Given the description of an element on the screen output the (x, y) to click on. 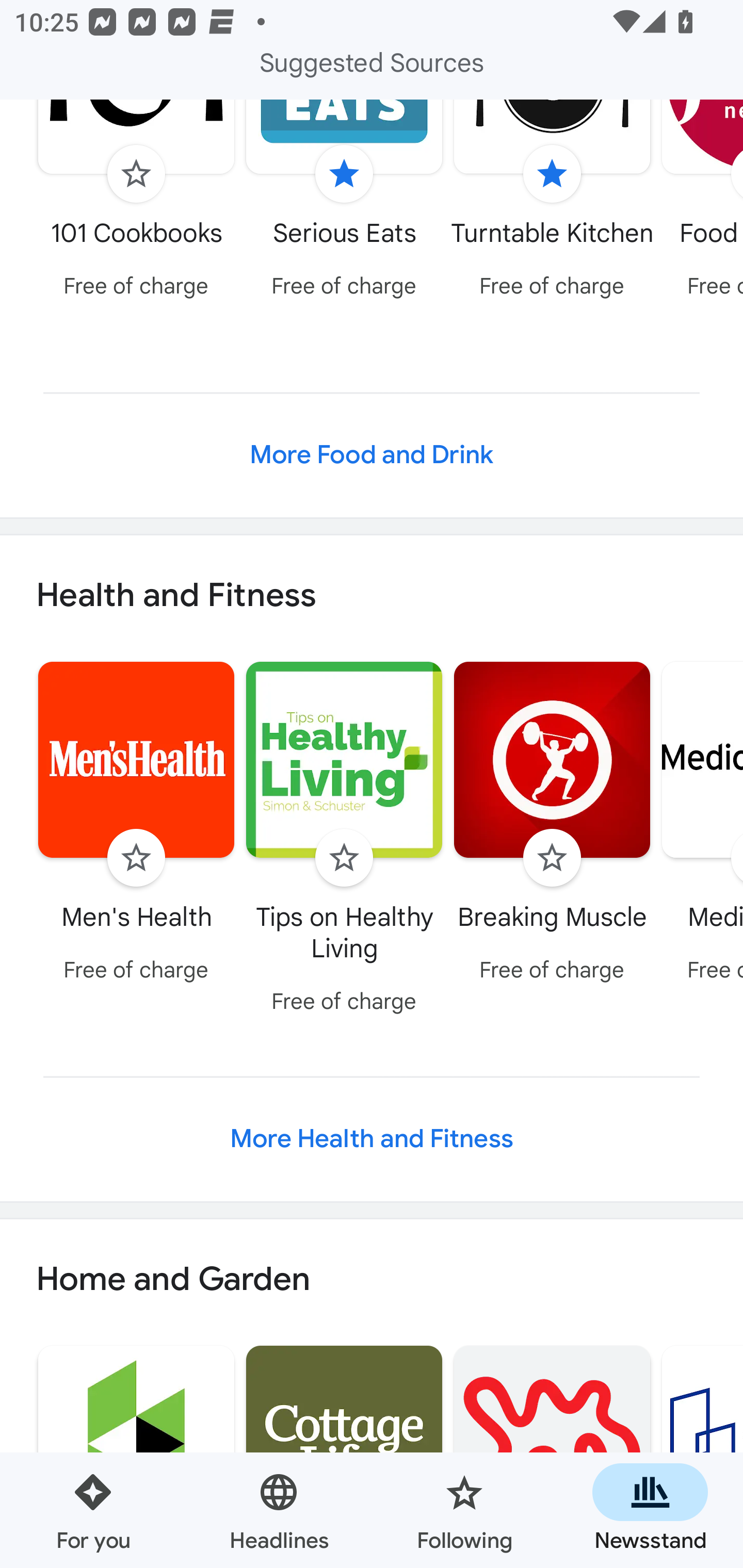
Follow 101 Cookbooks Free of charge (136, 203)
Unfollow Serious Eats Free of charge (344, 203)
Unfollow Turntable Kitchen Free of charge (552, 203)
Follow (135, 173)
Unfollow (343, 173)
Unfollow (552, 173)
More Food and Drink (371, 455)
Health and Fitness (371, 594)
Follow Men's Health Free of charge (136, 824)
Follow Tips on Healthy Living Free of charge (344, 840)
Follow Breaking Muscle Free of charge (552, 824)
Follow (135, 857)
Follow (343, 857)
Follow (552, 857)
More Health and Fitness (371, 1139)
Home and Garden (371, 1279)
For you (92, 1509)
Headlines (278, 1509)
Following (464, 1509)
Newsstand (650, 1509)
